Given the description of an element on the screen output the (x, y) to click on. 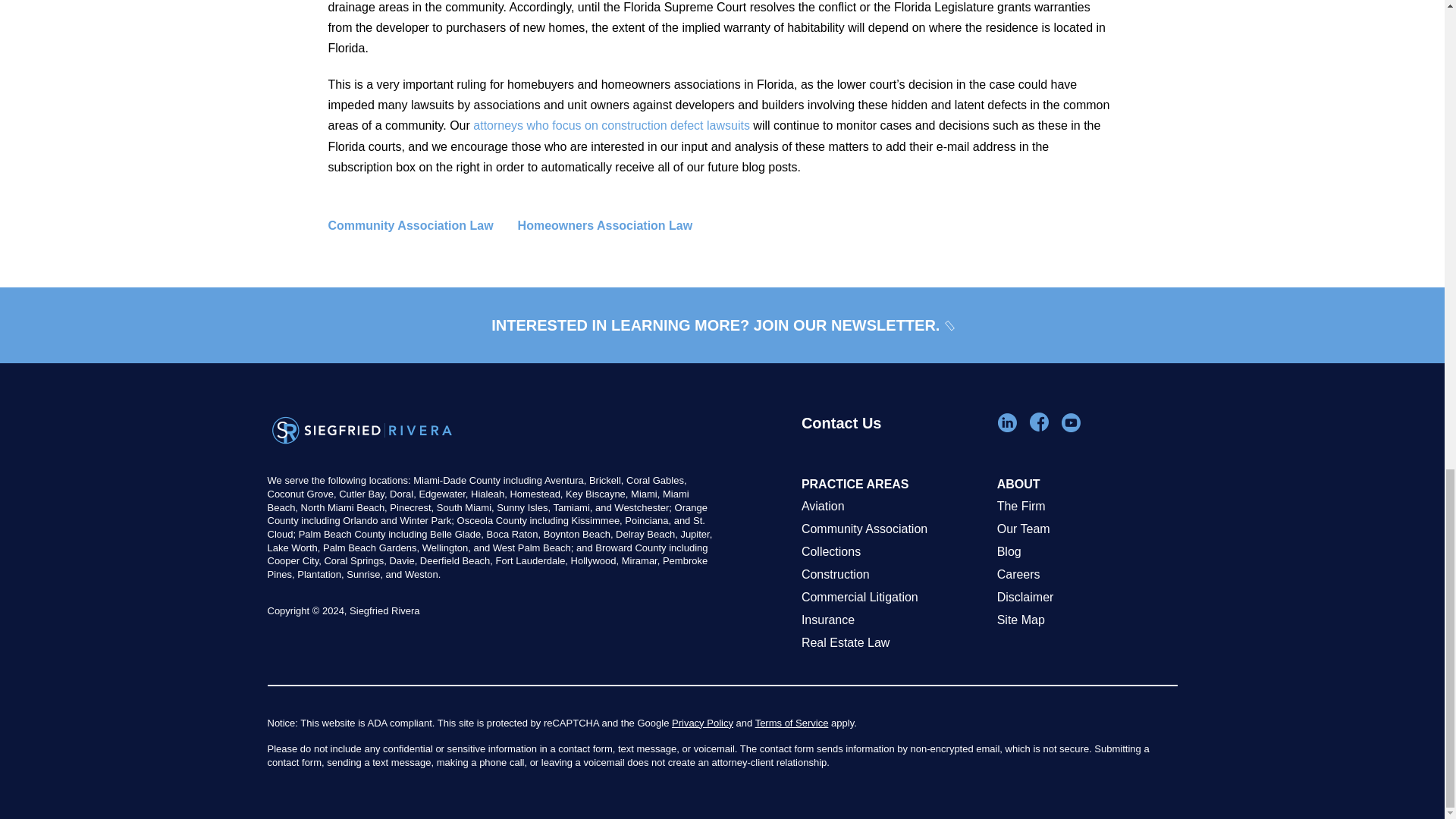
attorneys who focus on construction defect lawsuits (611, 124)
Community Association (891, 528)
Community Association Law (421, 225)
Homeowners Association Law (617, 225)
Contact Us (891, 443)
Aviation (891, 506)
